Given the description of an element on the screen output the (x, y) to click on. 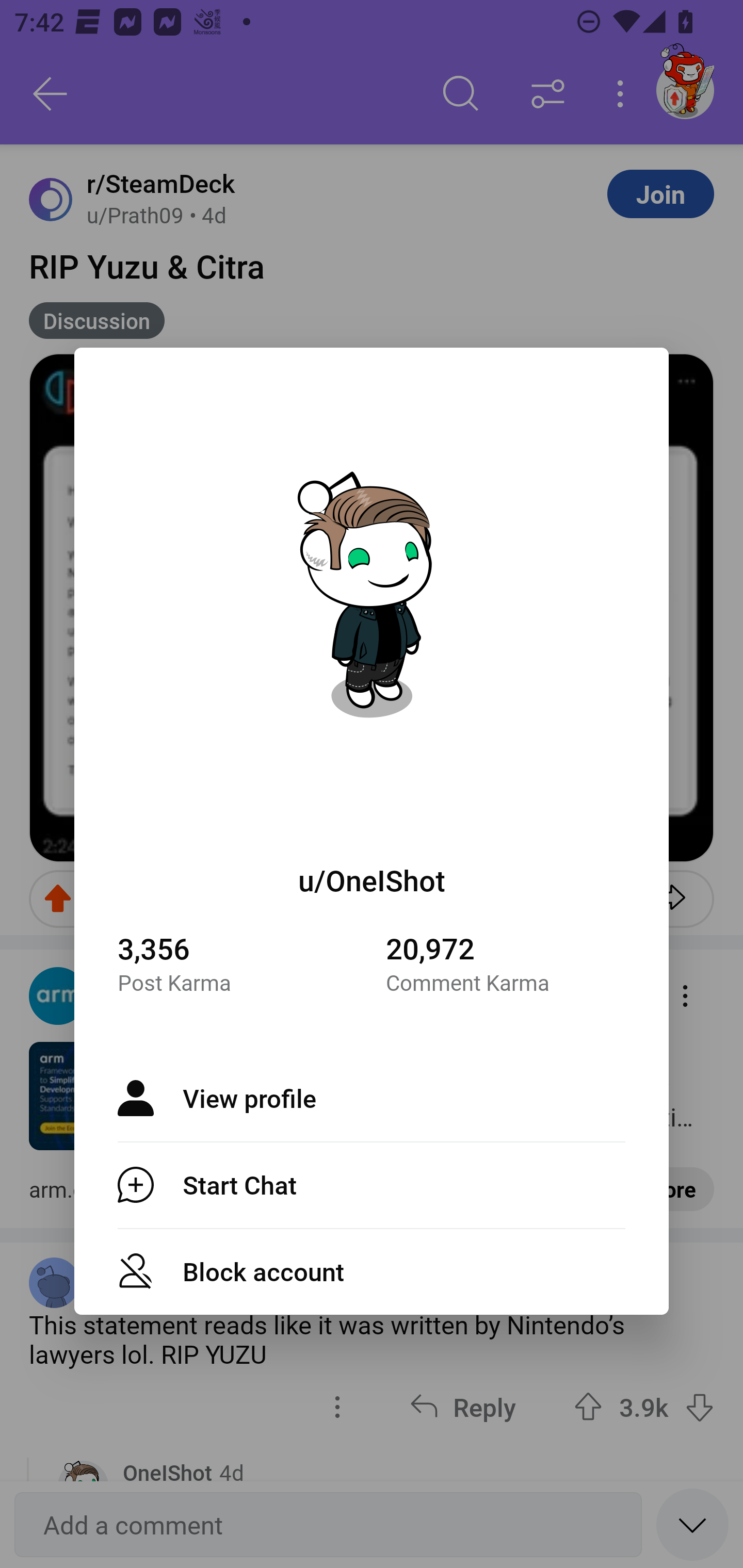
u/OneIShot (371, 880)
View profile (371, 1098)
Start Chat (371, 1184)
Block account (371, 1270)
